Given the description of an element on the screen output the (x, y) to click on. 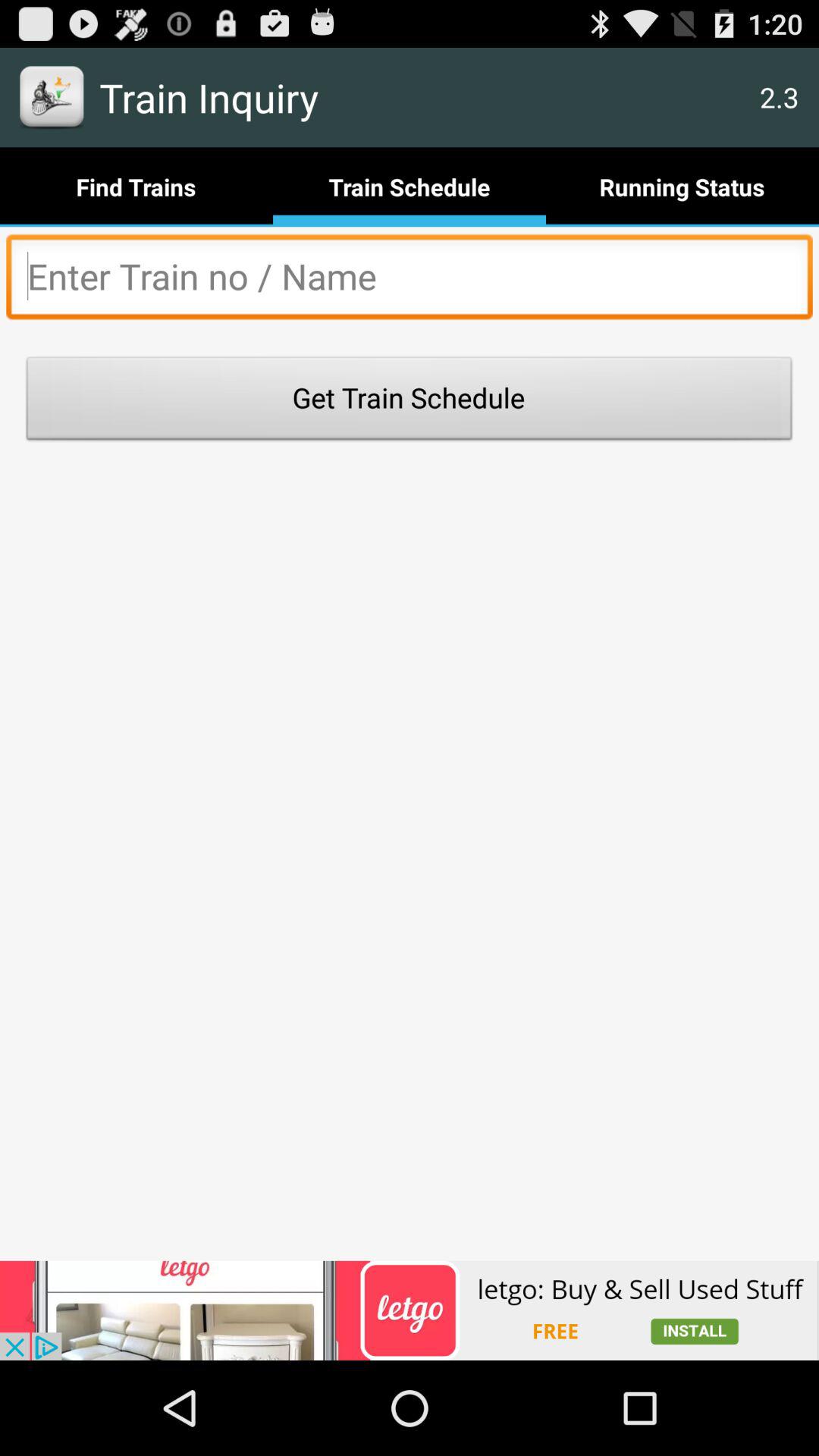
enter train number or name (409, 280)
